Given the description of an element on the screen output the (x, y) to click on. 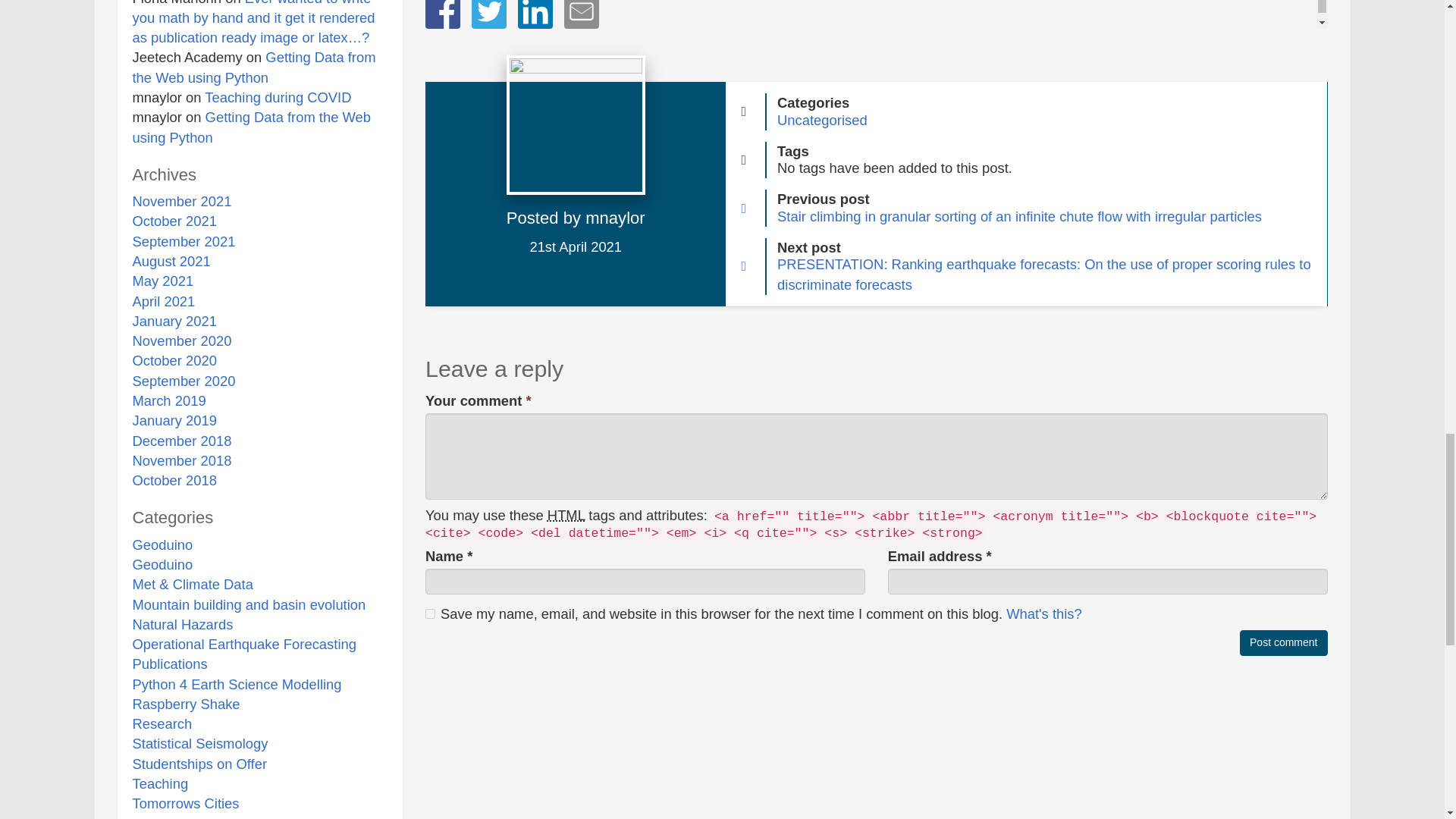
April 2021 (163, 301)
yes (430, 614)
October 2021 (173, 220)
September 2020 (183, 381)
November 2021 (181, 201)
Getting Data from the Web using Python (253, 67)
August 2021 (170, 261)
Getting Data from the Web using Python (251, 126)
HyperText Markup Language (566, 514)
Posts by mnaylor (615, 217)
March 2019 (168, 400)
Teaching during COVID (277, 97)
January 2021 (173, 320)
Post comment (1283, 642)
May 2021 (162, 280)
